Given the description of an element on the screen output the (x, y) to click on. 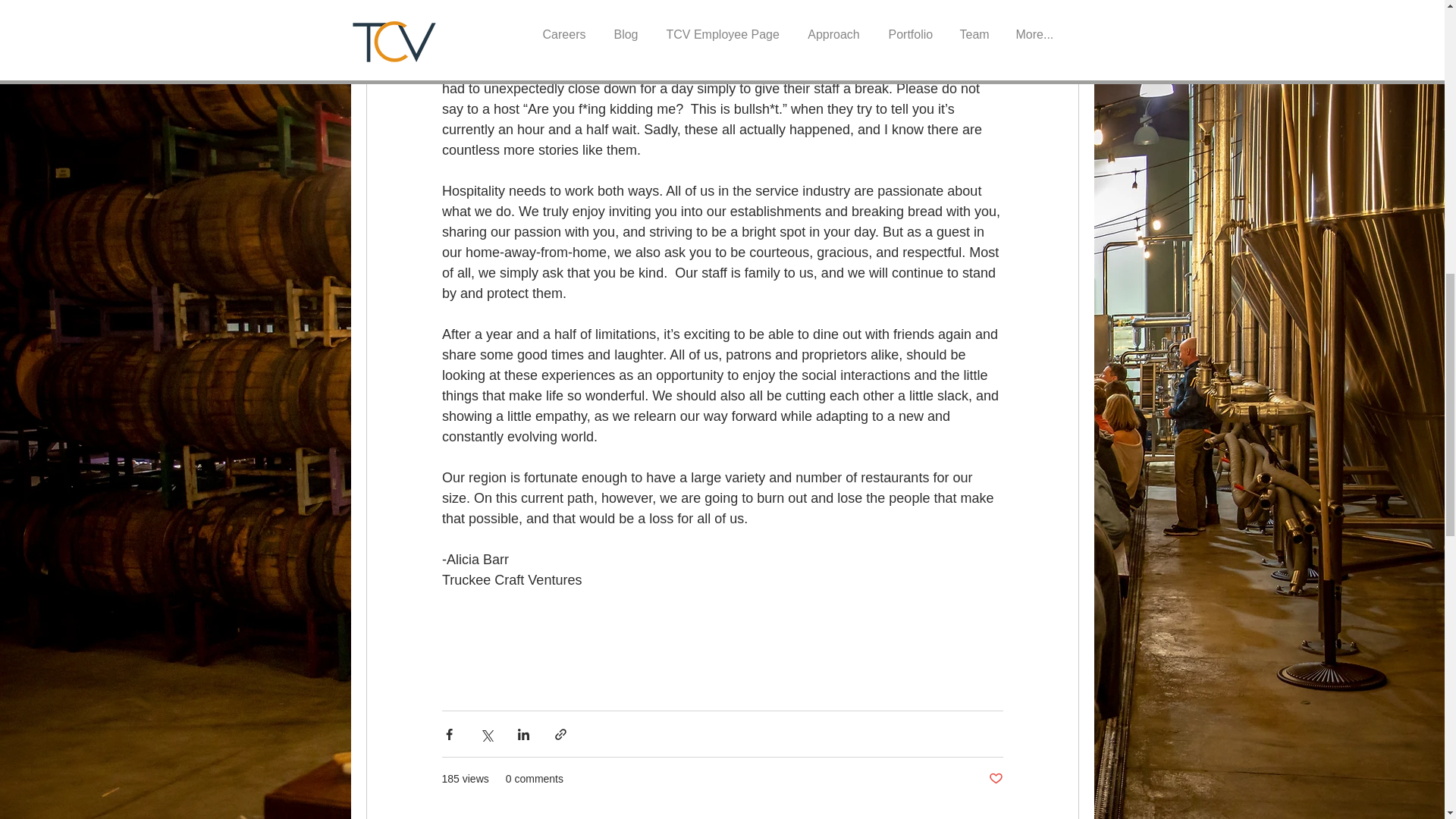
Post not marked as liked (995, 779)
